Given the description of an element on the screen output the (x, y) to click on. 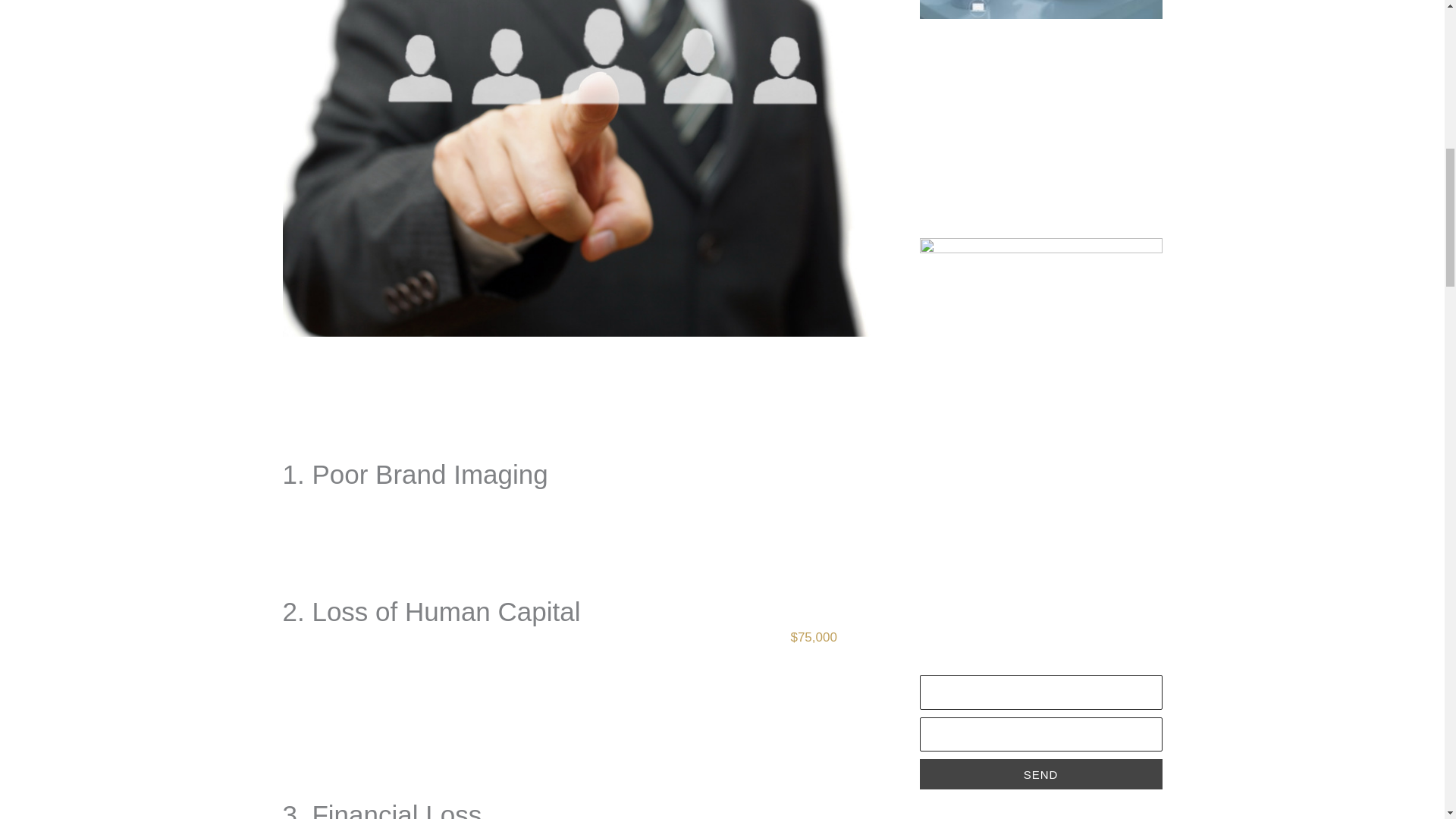
How Does Fiber Internet Work? (1024, 202)
SEND (1039, 774)
